Given the description of an element on the screen output the (x, y) to click on. 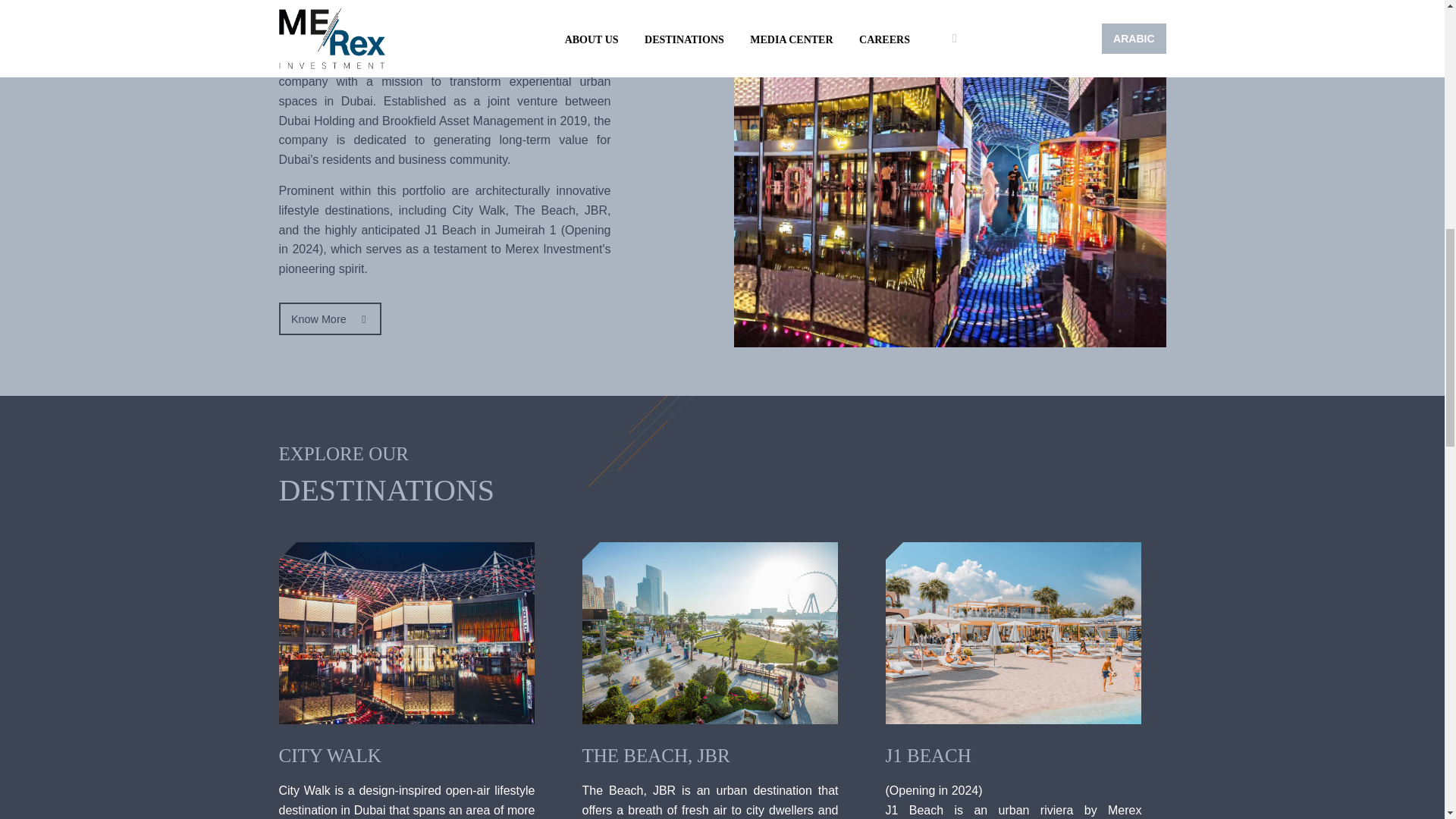
Know More (330, 318)
